Given the description of an element on the screen output the (x, y) to click on. 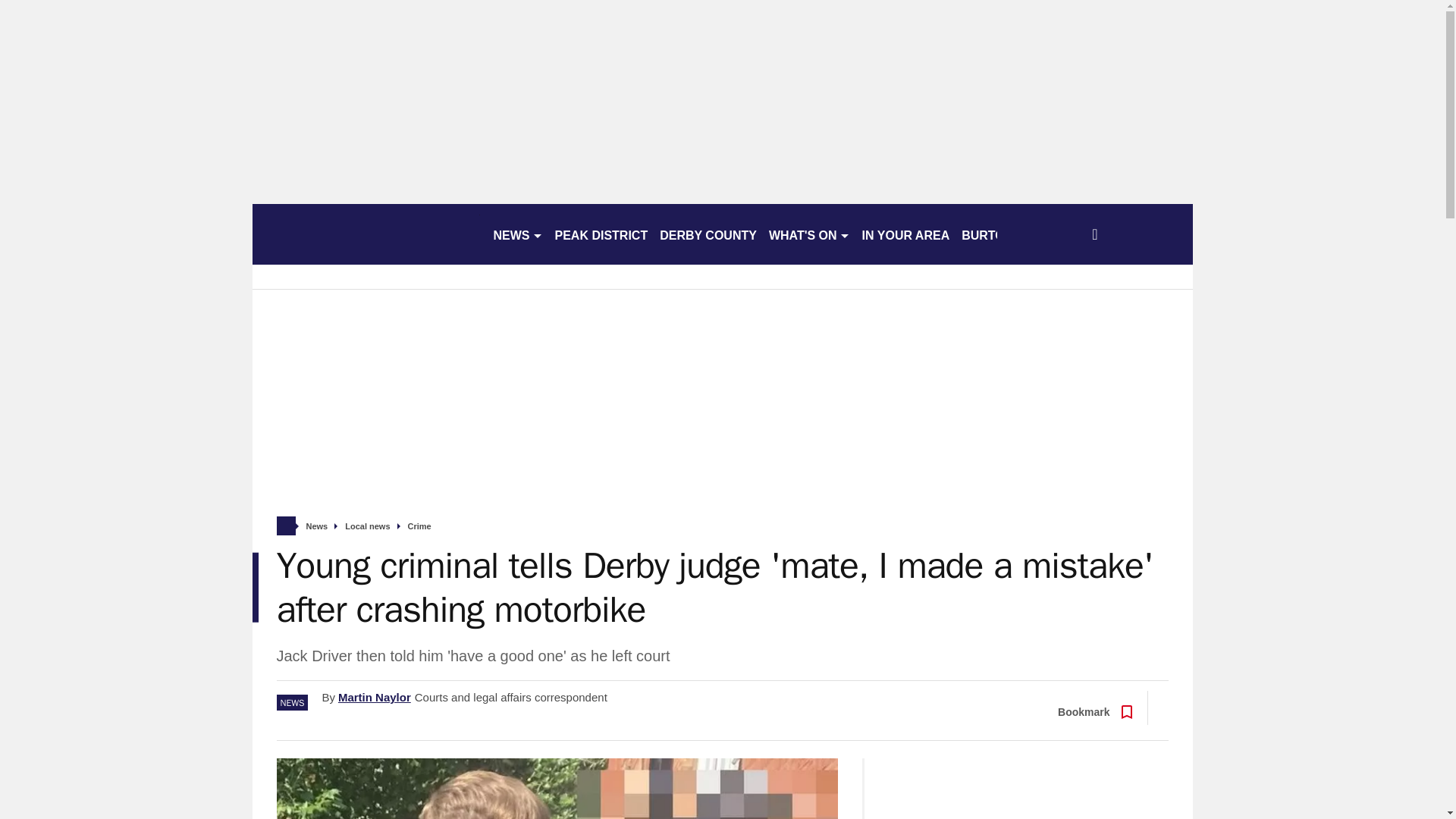
PEAK DISTRICT (600, 233)
IN YOUR AREA (906, 233)
NEWS (517, 233)
derbytelegraph (365, 233)
WHAT'S ON (809, 233)
DERBY COUNTY (707, 233)
BURTONLIVE (1000, 233)
